Given the description of an element on the screen output the (x, y) to click on. 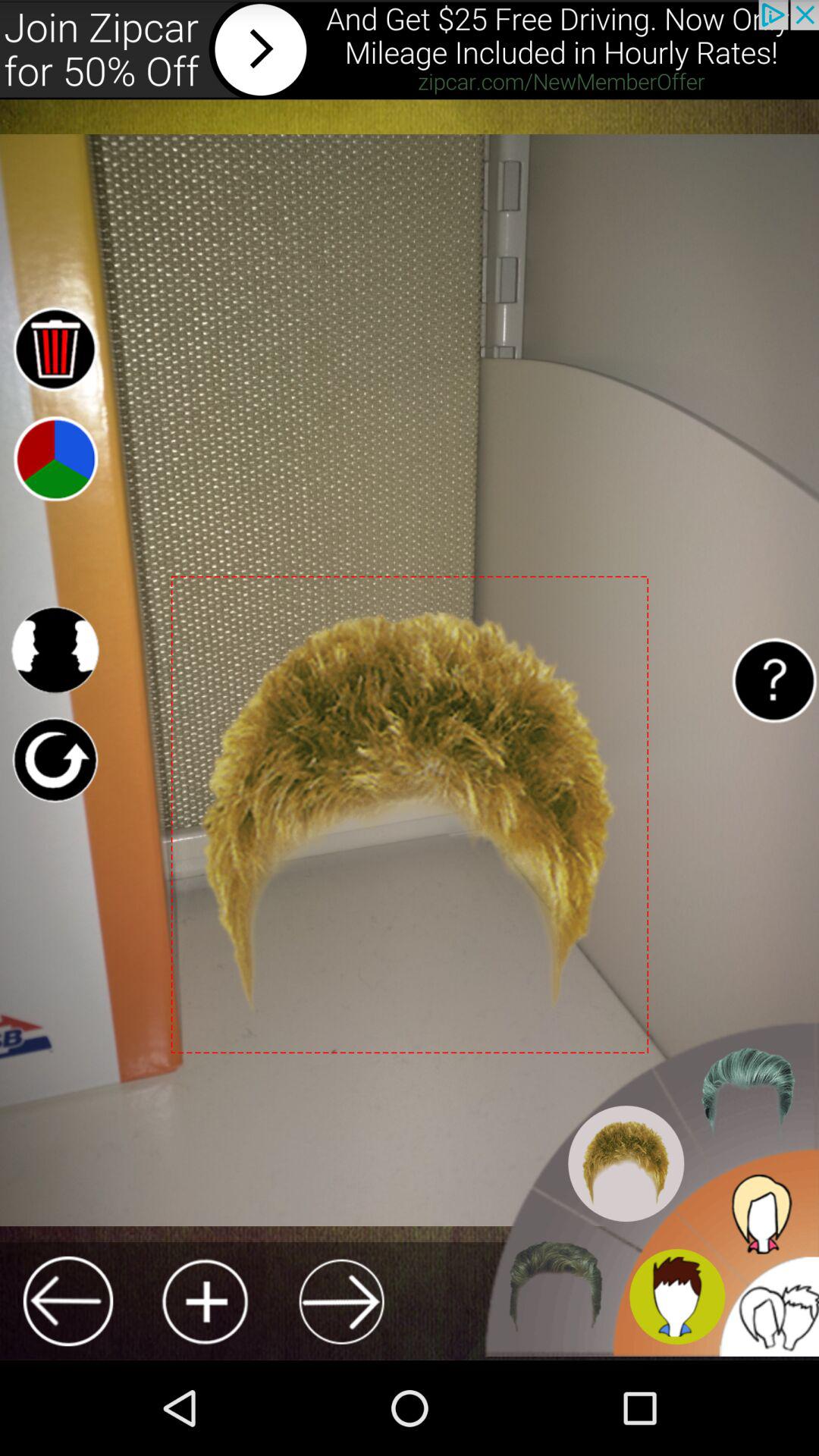
button choose a color (55, 458)
